Given the description of an element on the screen output the (x, y) to click on. 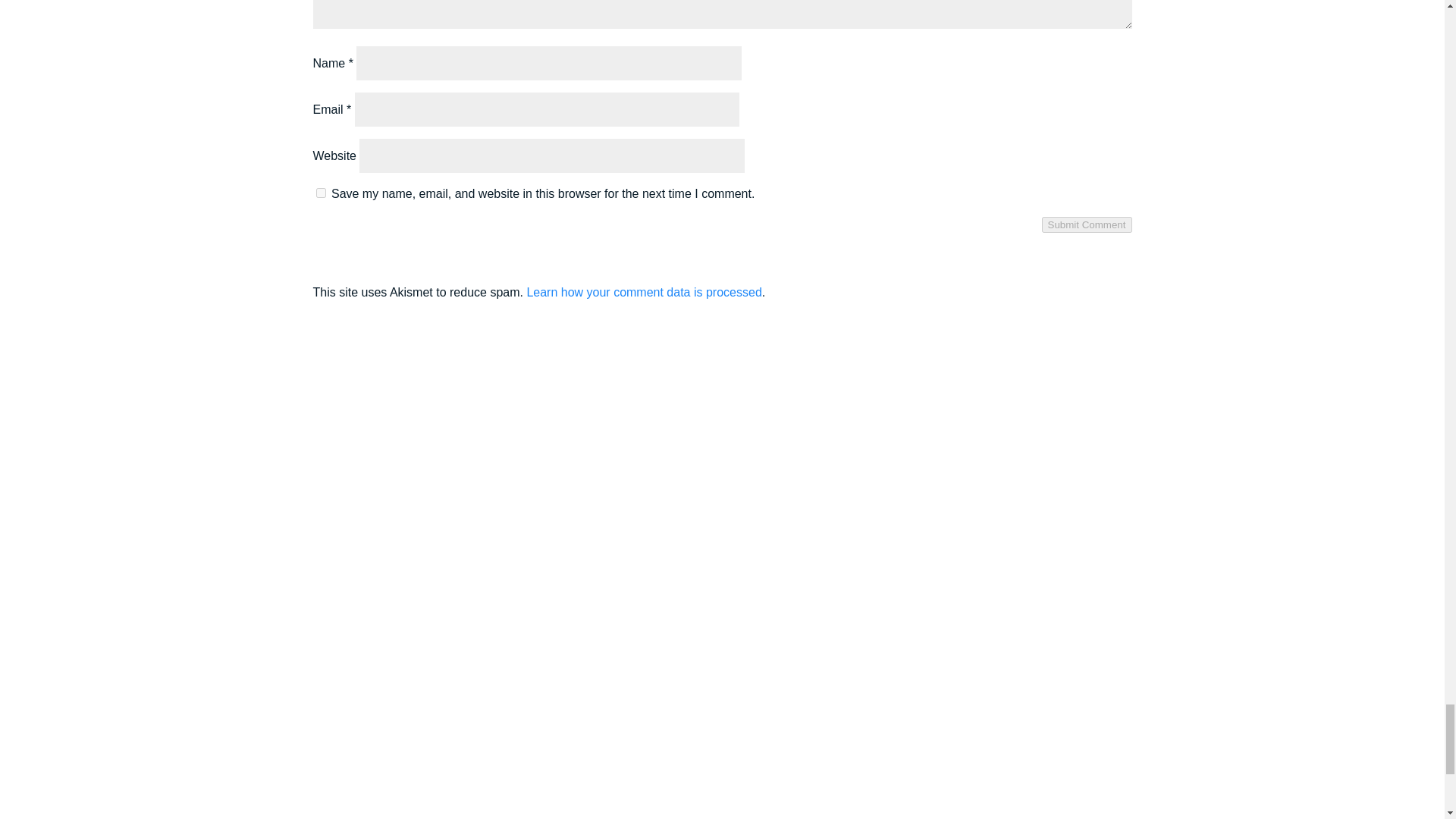
yes (319, 193)
